Given the description of an element on the screen output the (x, y) to click on. 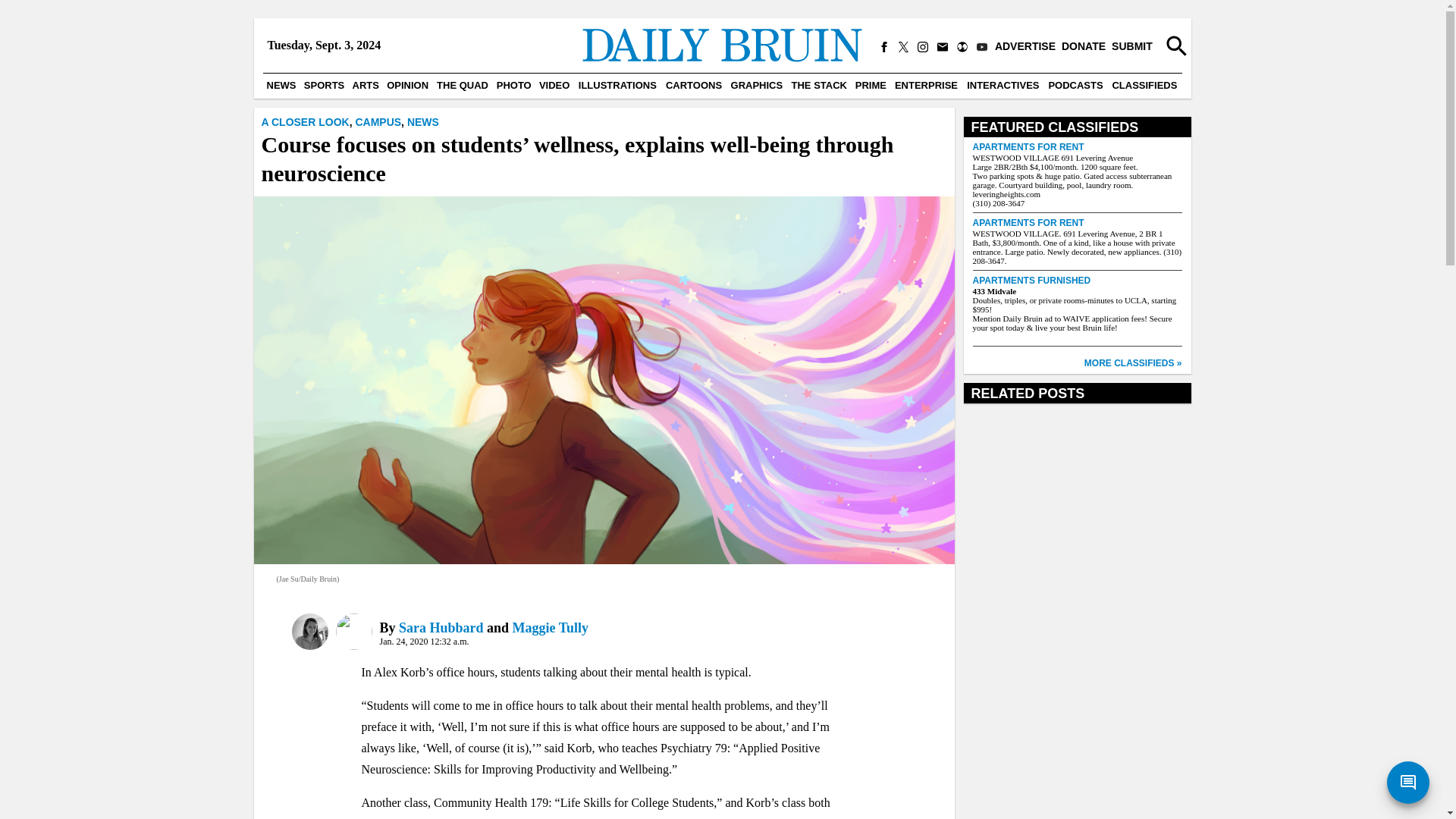
ARTS (365, 85)
ENTERPRISE (925, 85)
NEWS (423, 121)
INTERACTIVES (1002, 85)
CAMPUS (378, 121)
SPORTS (324, 85)
PODCASTS (1075, 85)
ILLUSTRATIONS (617, 85)
Maggie Tully (550, 627)
A CLOSER LOOK (304, 121)
